Given the description of an element on the screen output the (x, y) to click on. 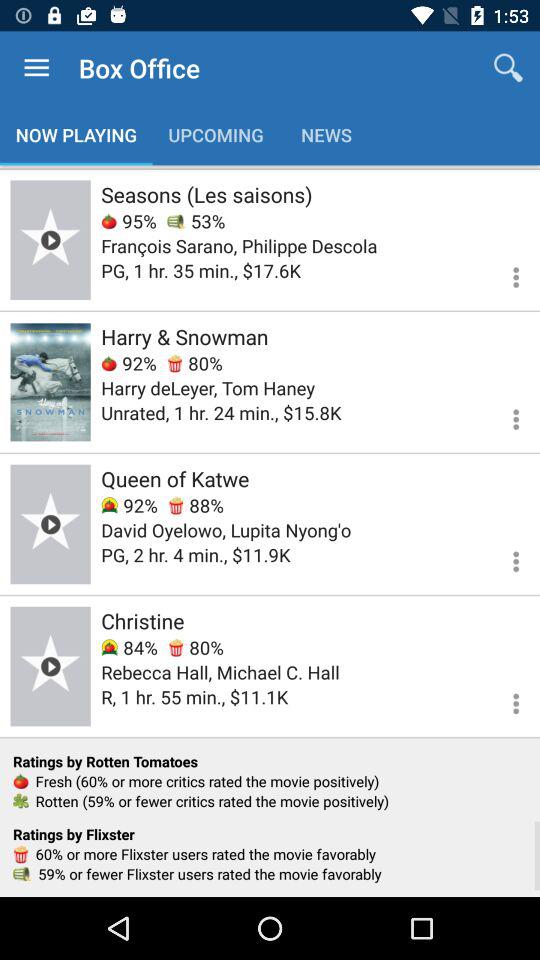
launch the icon above the 95% icon (206, 194)
